Given the description of an element on the screen output the (x, y) to click on. 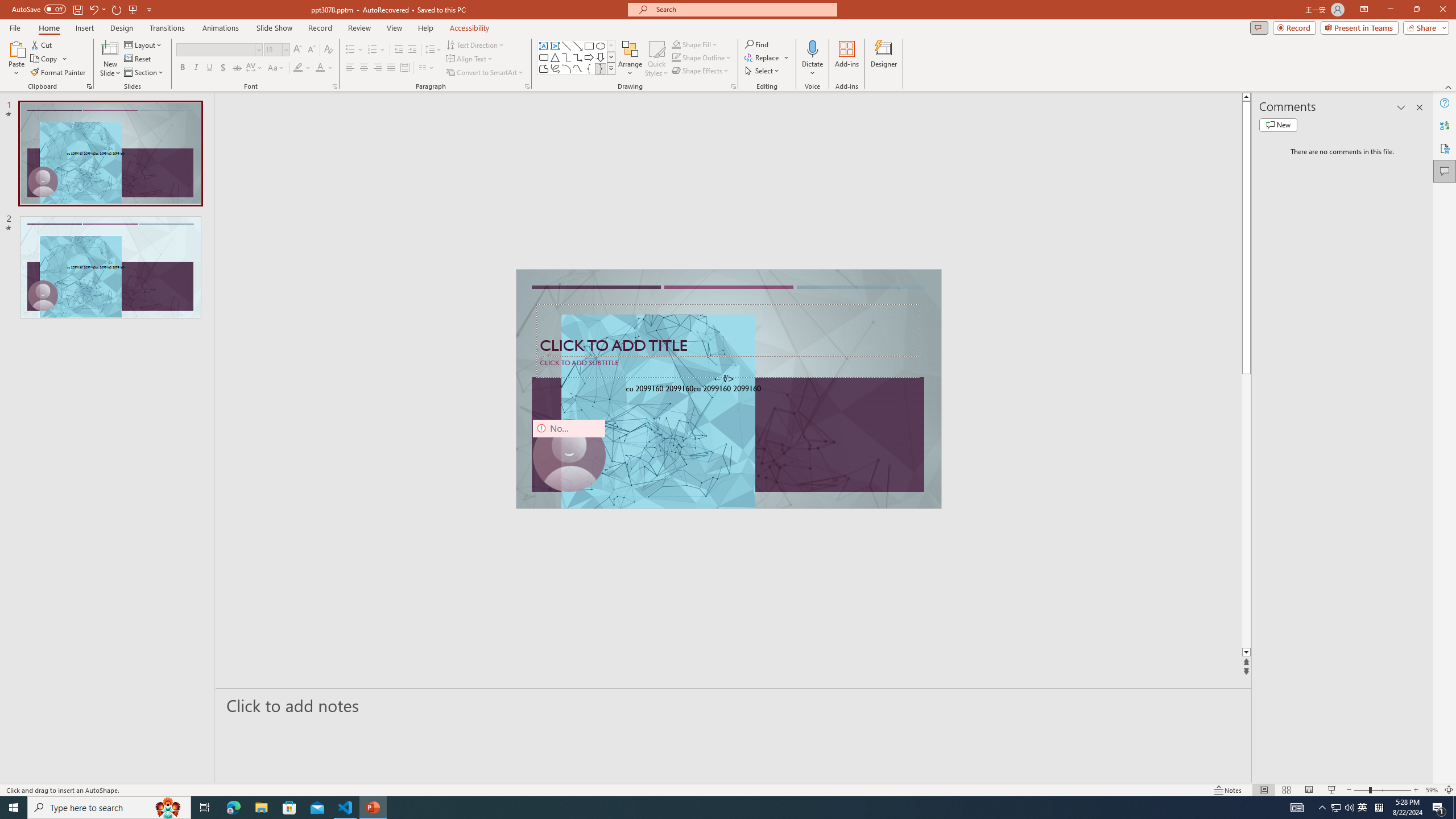
TextBox 61 (727, 389)
Bullets (349, 49)
Office Clipboard... (88, 85)
Section (144, 72)
New Slide (110, 58)
Translator (1444, 125)
Shape Fill Dark Green, Accent 2 (675, 44)
Increase Indent (412, 49)
